Given the description of an element on the screen output the (x, y) to click on. 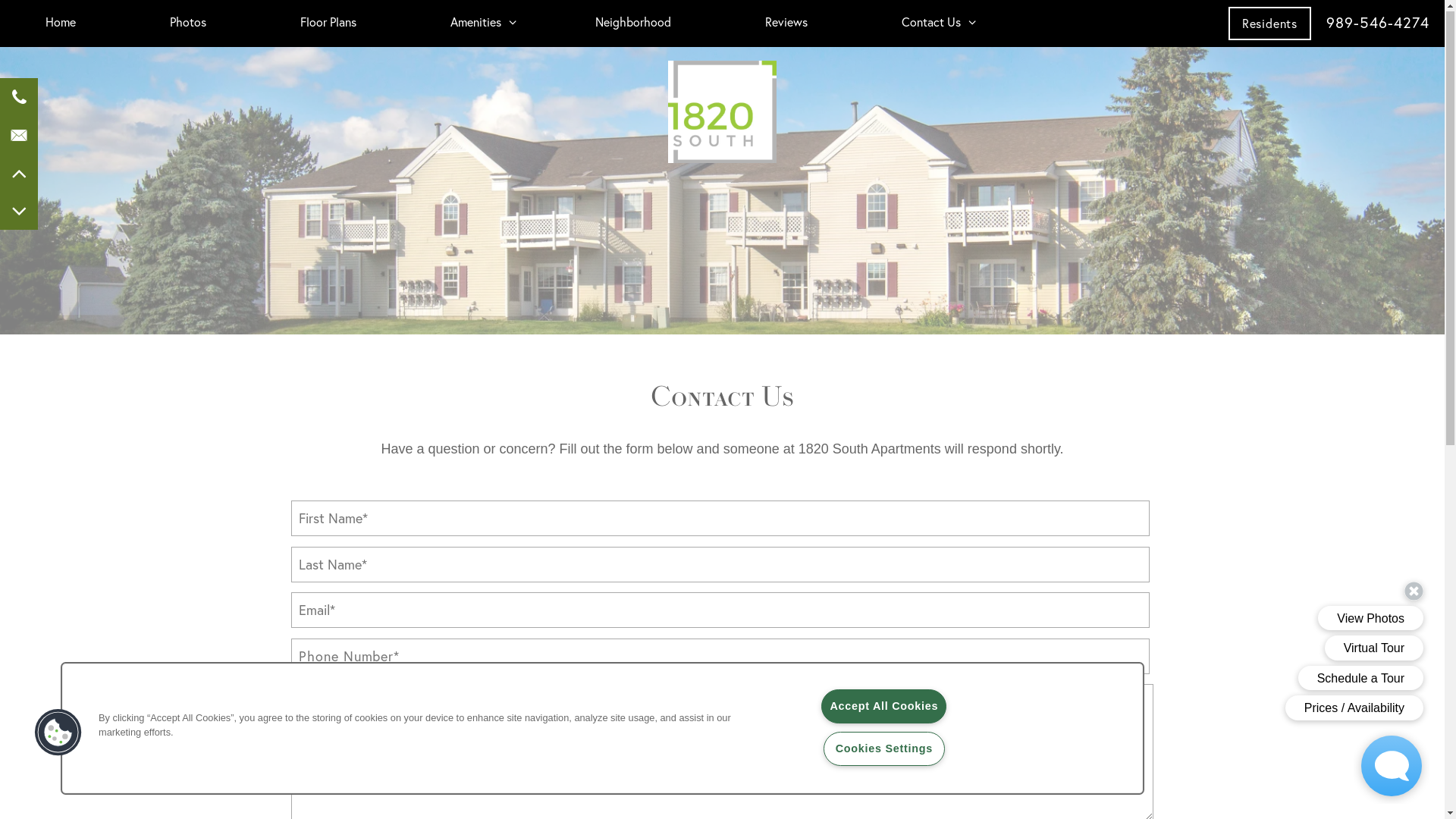
Residents Element type: text (1269, 23)
Email Element type: hover (18, 135)
Floor Plans Element type: text (328, 22)
Cookies Button Element type: text (58, 733)
Cookies Settings Element type: text (883, 749)
Scroll Up Element type: hover (18, 173)
Knock Button Options Element type: hover (1292, 652)
Knock Chat Bot Element type: hover (1391, 766)
Phone Number Element type: hover (18, 97)
989-546-4274 Element type: text (1377, 23)
Home Element type: text (60, 22)
Scroll Down Element type: hover (18, 211)
40 characters max, letters, spaces, and hyphens only please Element type: hover (719, 565)
Neighborhood Element type: text (633, 22)
Amenities Element type: text (475, 22)
Contact Us Element type: text (930, 22)
Accept All Cookies Element type: text (883, 707)
Photos Element type: text (187, 22)
40 characters max, letters, spaces, and hyphens only please Element type: hover (719, 518)
Reviews Element type: text (785, 22)
